Given the description of an element on the screen output the (x, y) to click on. 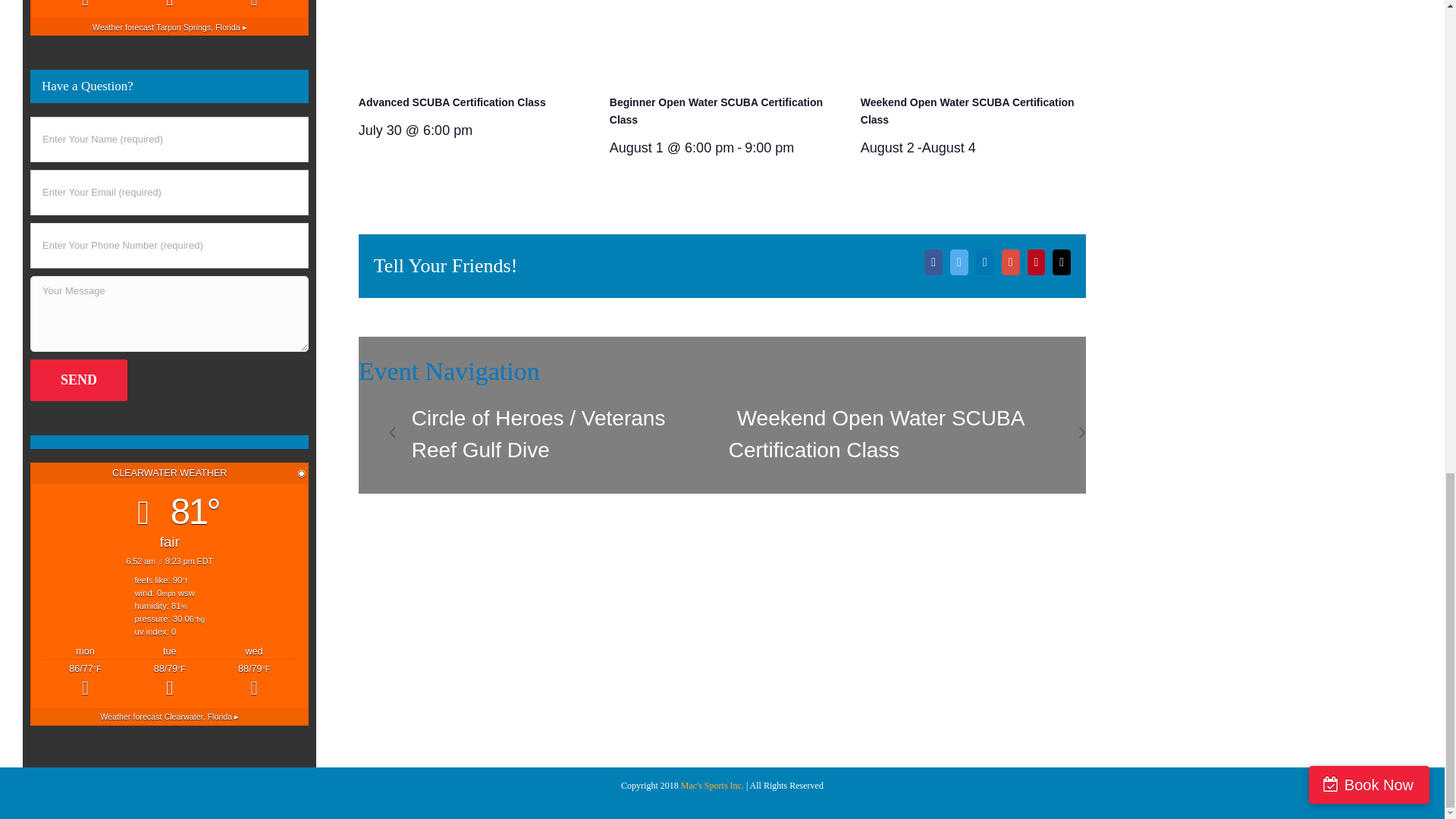
Send (79, 380)
Facebook (933, 262)
Email (1061, 262)
Pinterest (1035, 262)
Scattered Thunderstorms (85, 6)
Scattered Thunderstorms (169, 6)
Scattered Thunderstorms (253, 6)
Twitter (959, 262)
Advanced SCUBA Certification Class (452, 102)
Linkedin (984, 262)
